Given the description of an element on the screen output the (x, y) to click on. 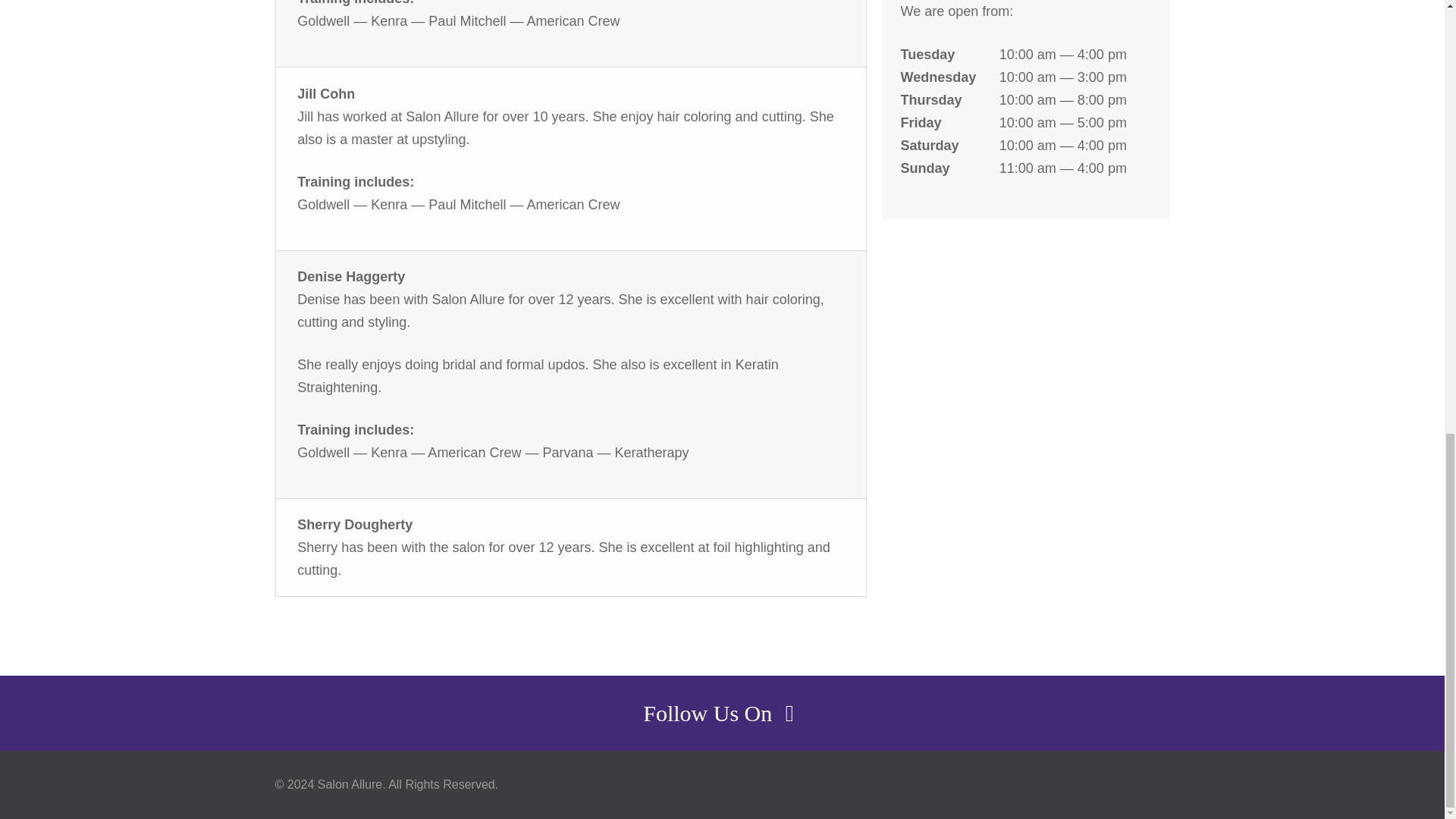
Salon Allure (349, 784)
